Given the description of an element on the screen output the (x, y) to click on. 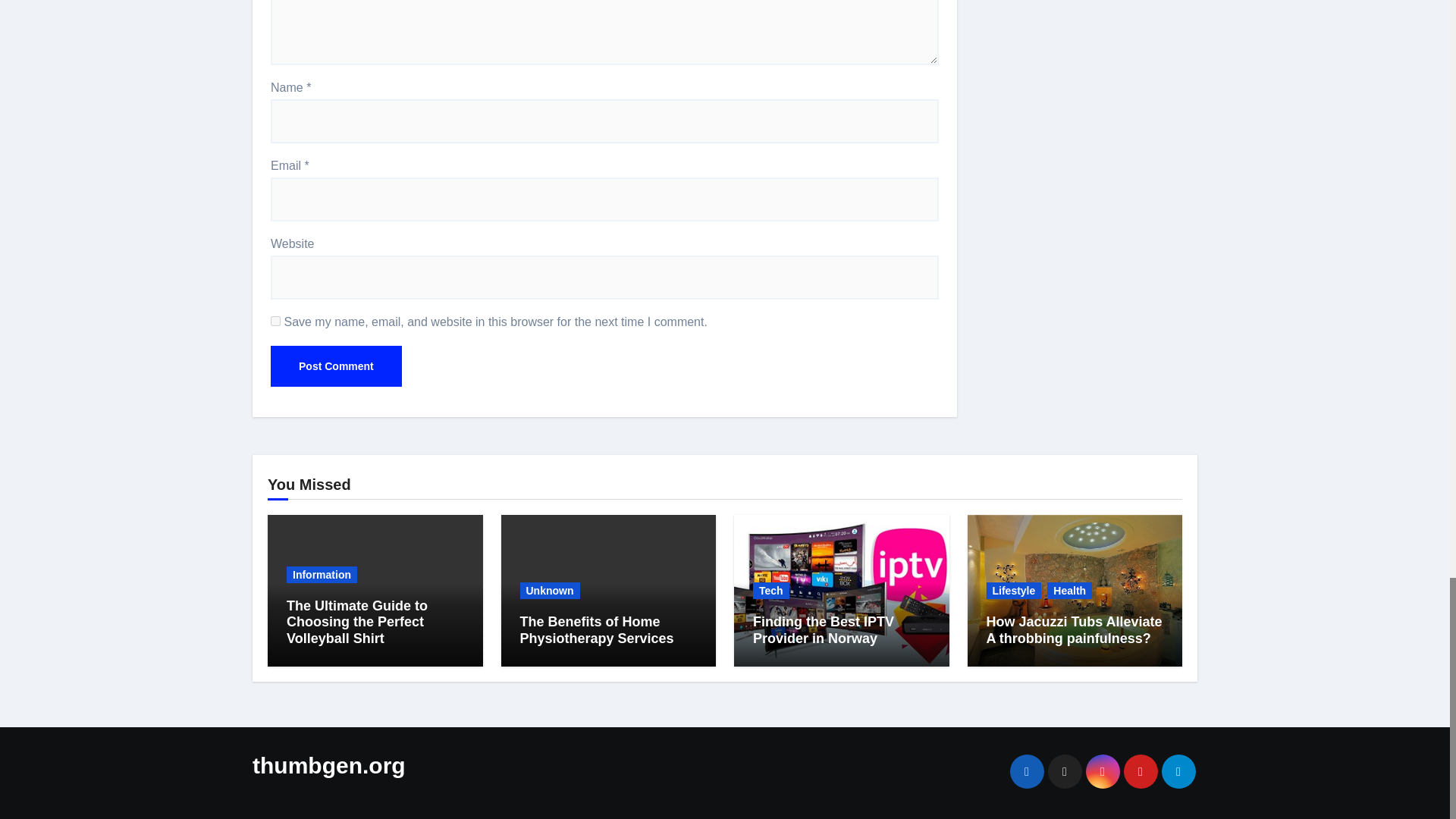
Post Comment (335, 365)
yes (275, 320)
